Given the description of an element on the screen output the (x, y) to click on. 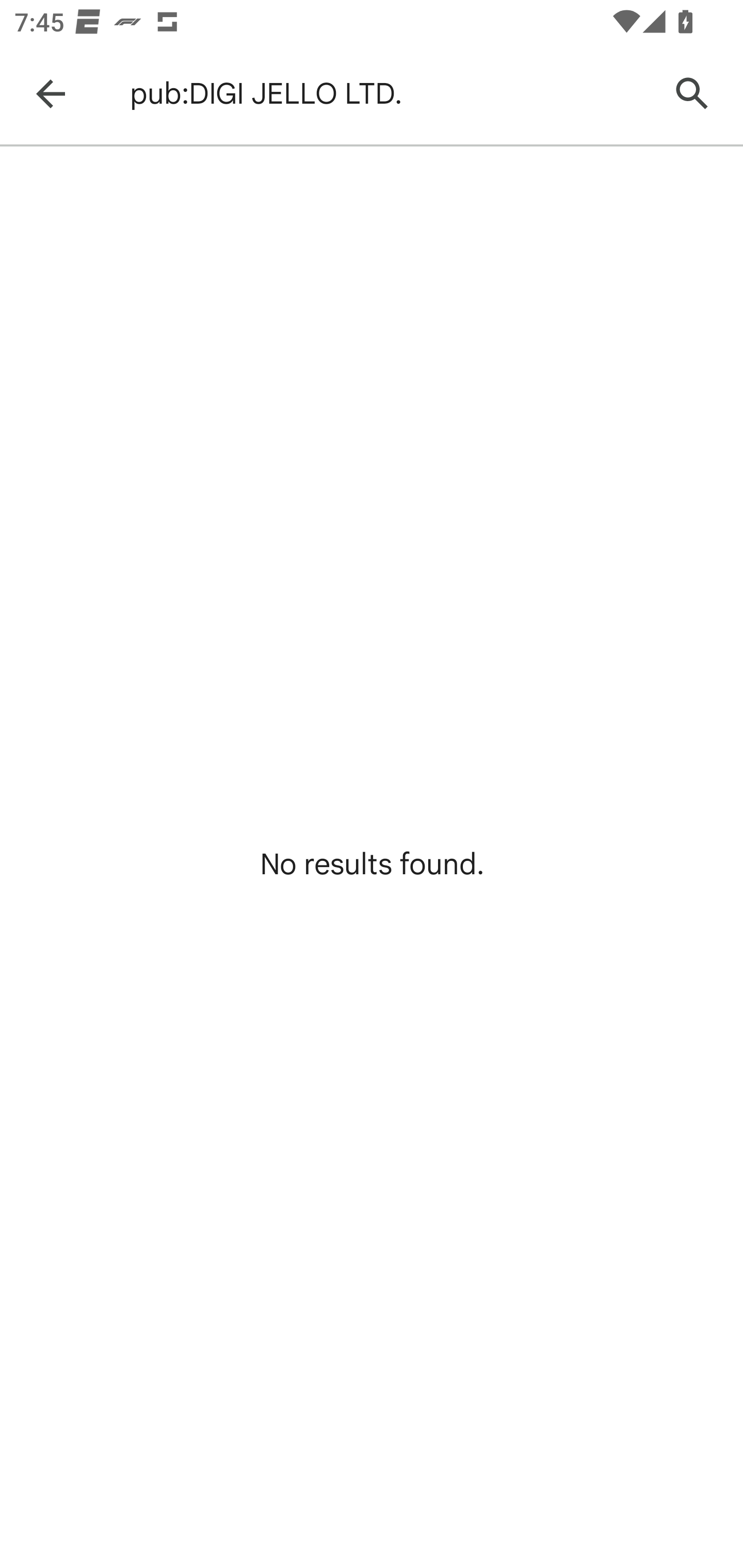
pub:DIGI JELLO LTD. (389, 93)
Navigate up (50, 93)
Search Google Play (692, 93)
